Given the description of an element on the screen output the (x, y) to click on. 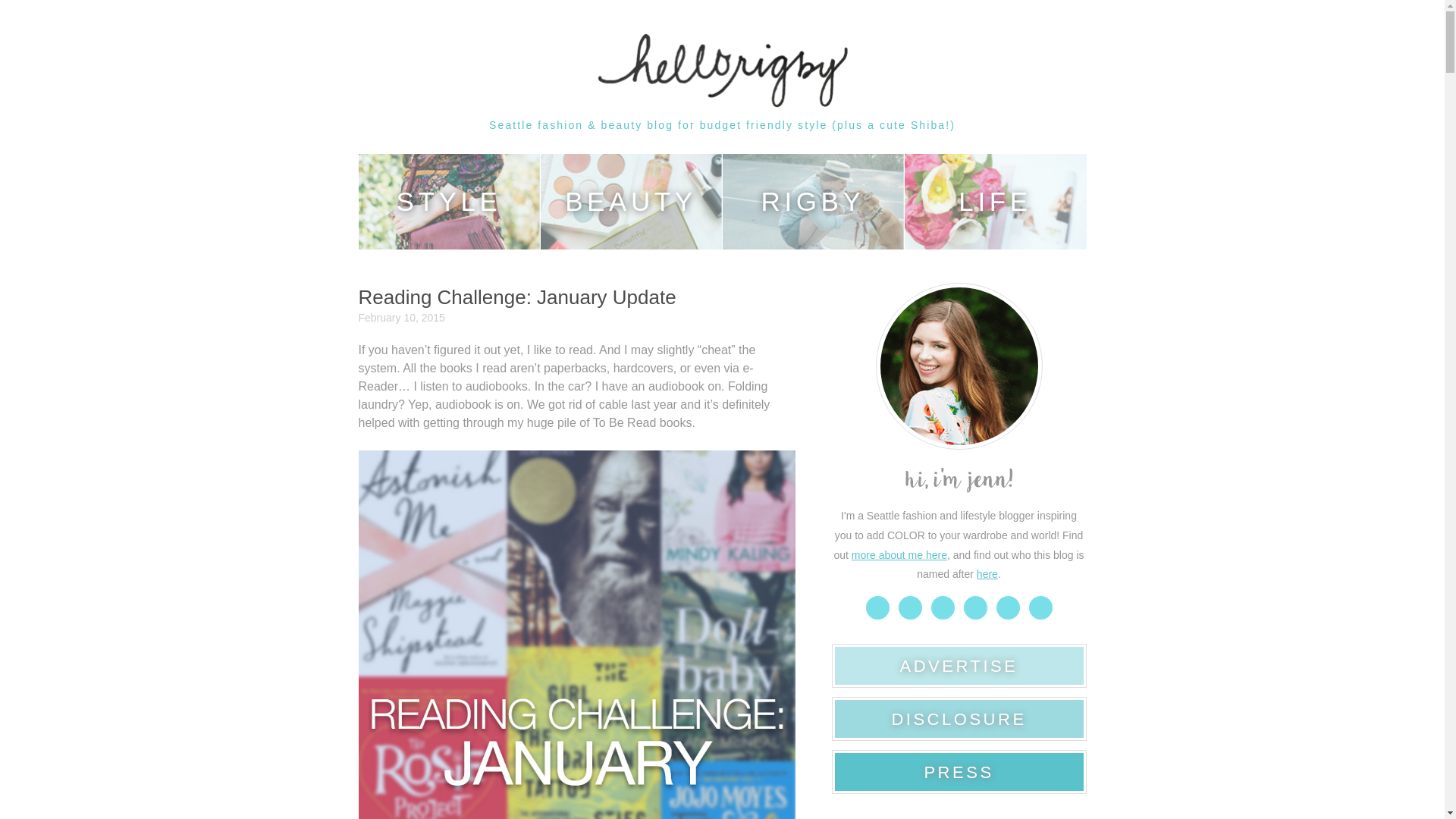
STYLE (449, 201)
LIFE (995, 201)
BEAUTY (631, 201)
RIGBY (813, 201)
